Given the description of an element on the screen output the (x, y) to click on. 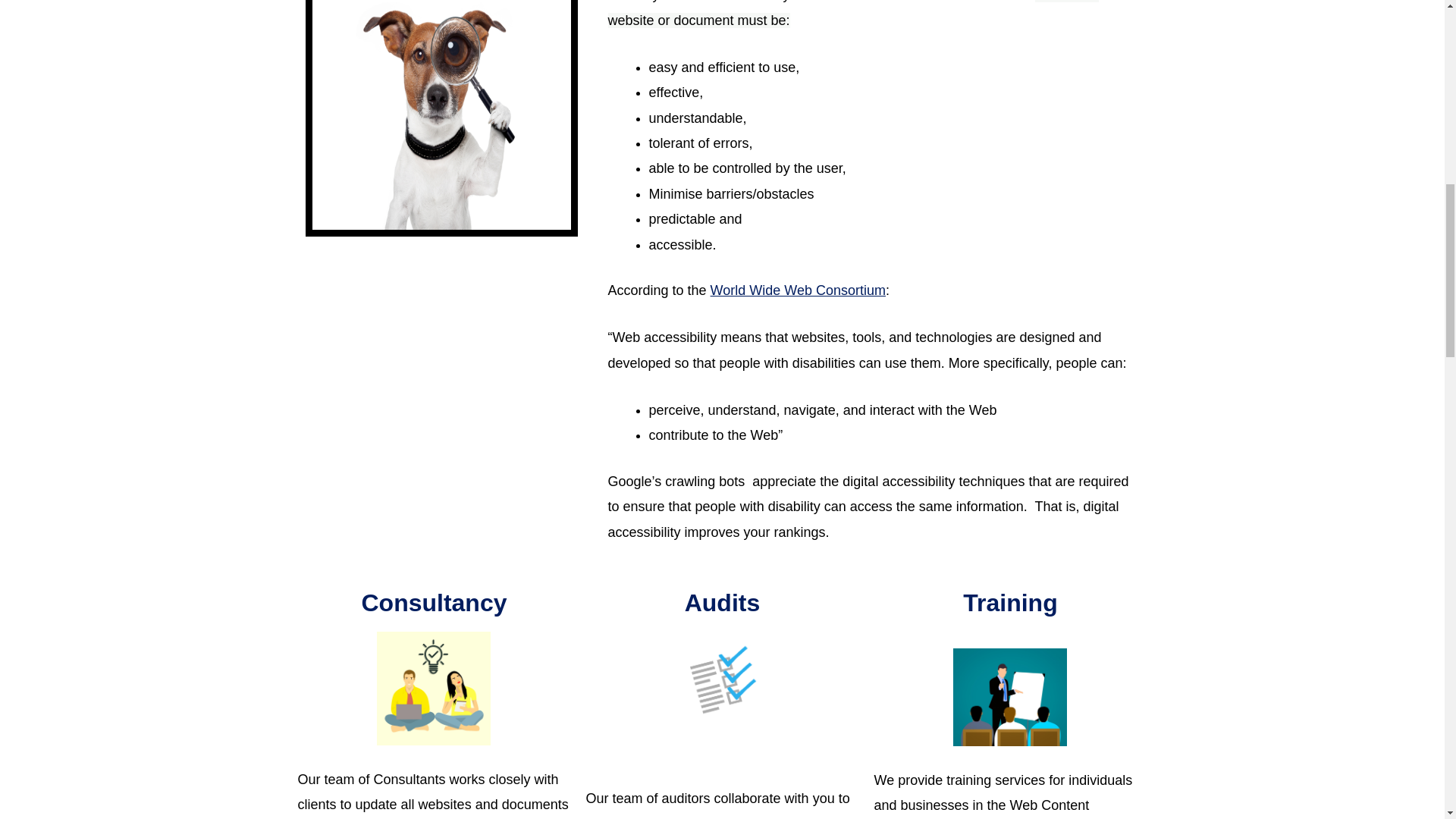
World Wide Web Consortium (797, 290)
